Given the description of an element on the screen output the (x, y) to click on. 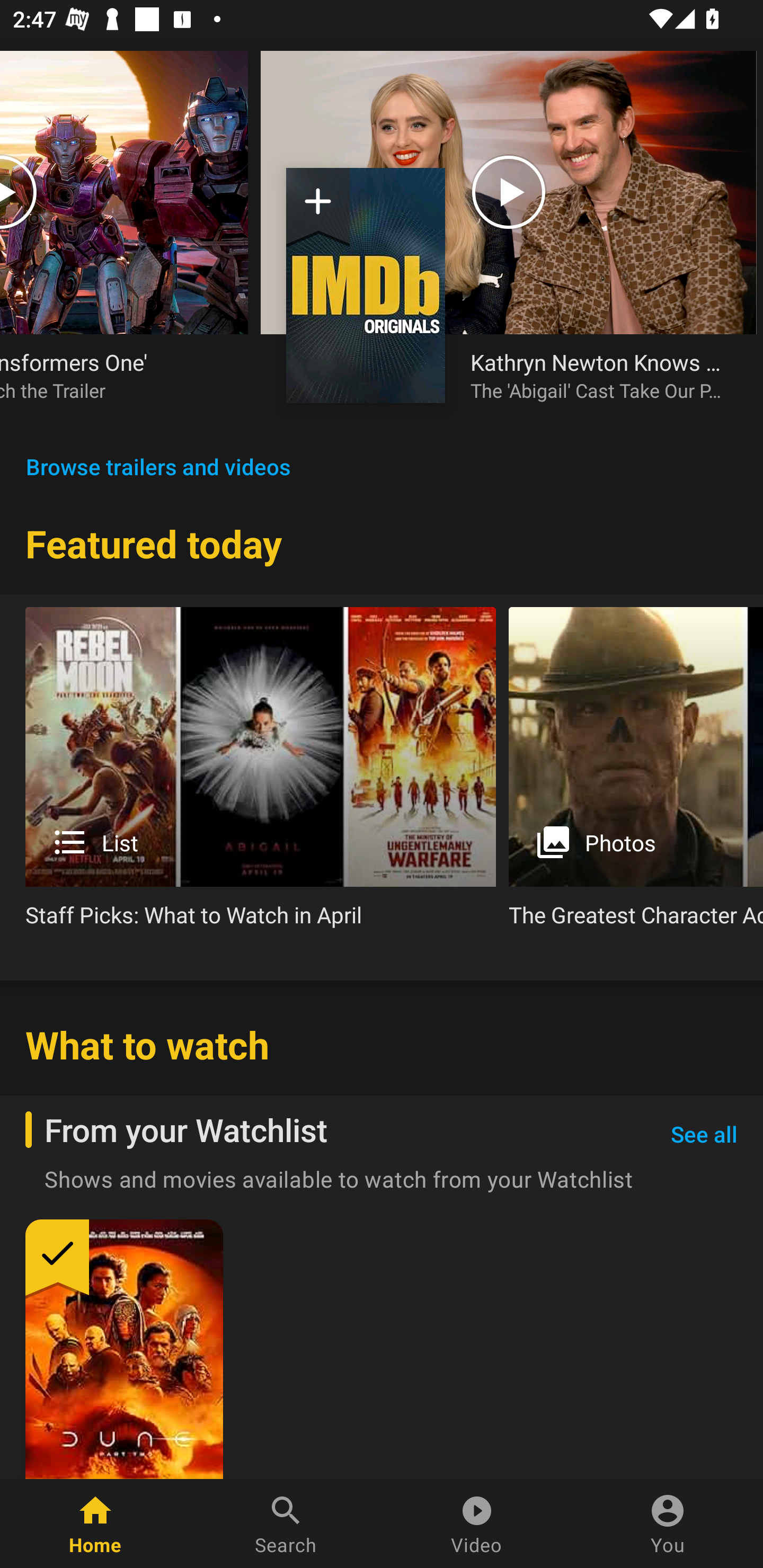
'Transformers One' Watch the Trailer (123, 239)
Not in watchlist (365, 284)
Not in watchlist (317, 207)
'Transformers One' Watch the Trailer (111, 374)
List Staff Picks: What to Watch in April (260, 774)
Photos The Greatest Character Actors of All Time (635, 774)
See all See all From your Watchlist (703, 1134)
Search (285, 1523)
Video (476, 1523)
You (667, 1523)
